Given the description of an element on the screen output the (x, y) to click on. 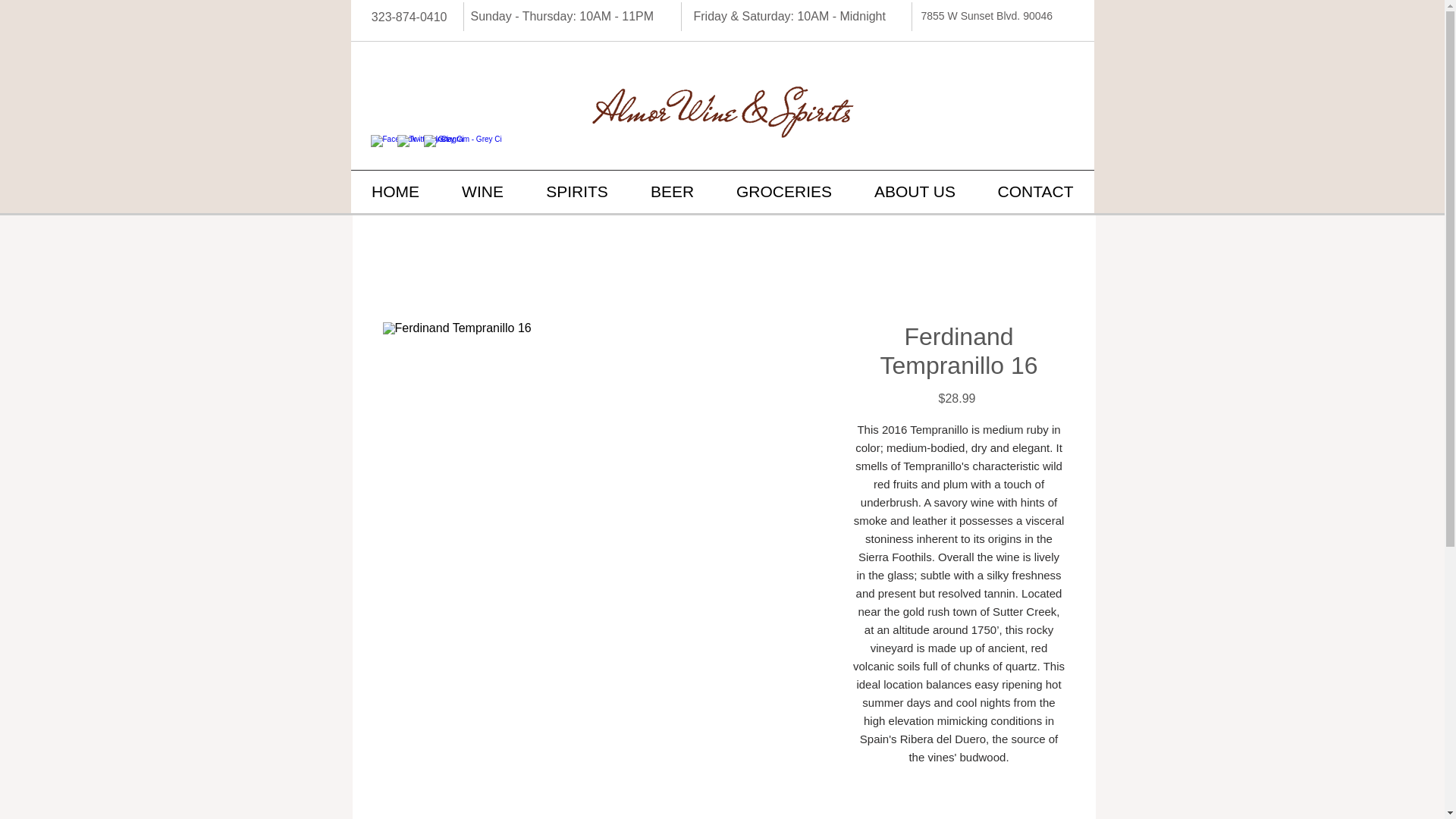
CONTACT (1034, 191)
GROCERIES (784, 191)
HOME (394, 191)
WINE (482, 191)
BEER (671, 191)
ABOUT US (914, 191)
SPIRITS (576, 191)
